Given the description of an element on the screen output the (x, y) to click on. 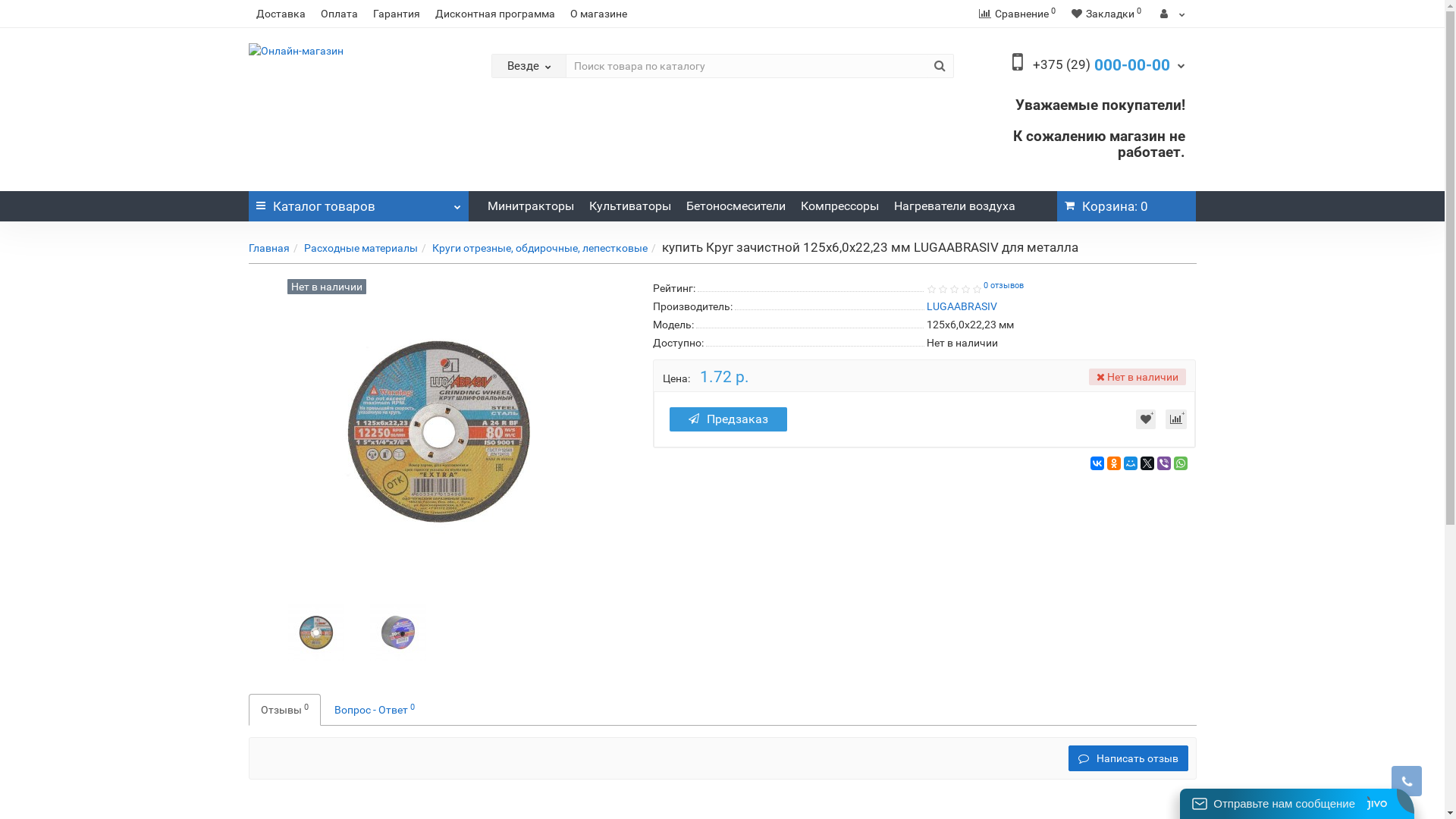
+375 (29) 000-00-00 Element type: text (1108, 64)
Twitter Element type: hover (1147, 463)
Viber Element type: hover (1163, 463)
LUGAABRASIV Element type: text (961, 306)
WhatsApp Element type: hover (1180, 463)
